Given the description of an element on the screen output the (x, y) to click on. 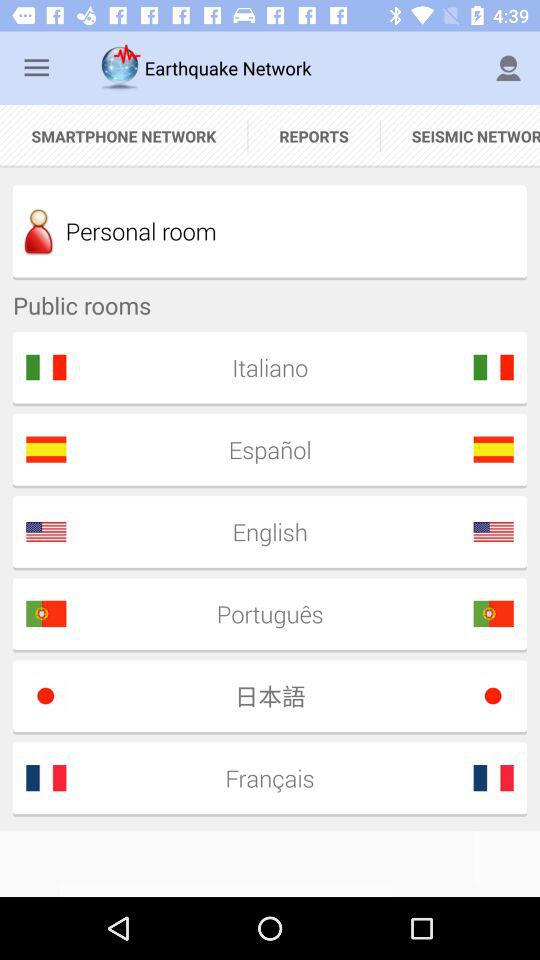
turn on item above the seismic networks app (508, 67)
